Given the description of an element on the screen output the (x, y) to click on. 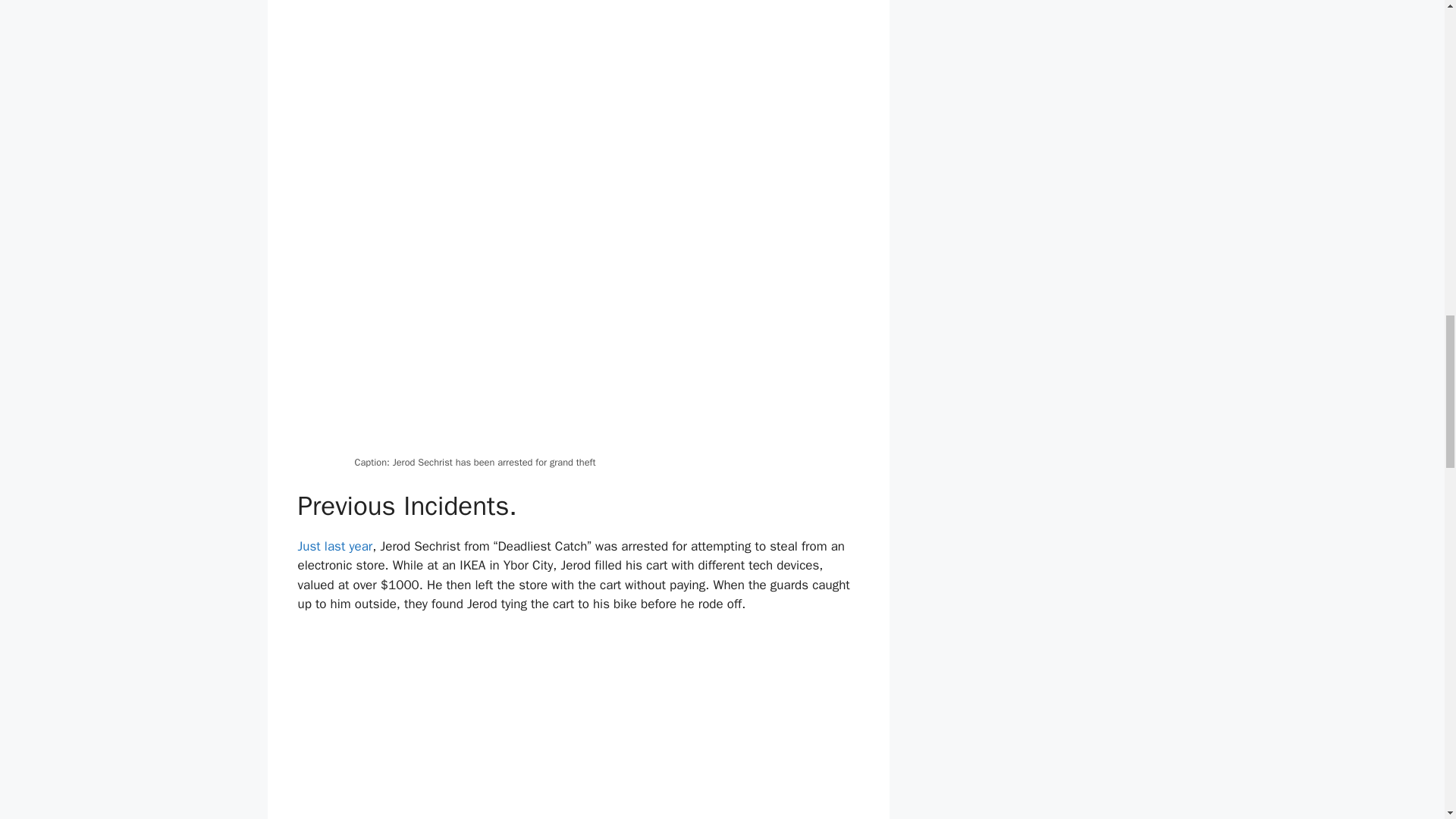
Just last year (334, 546)
